Given the description of an element on the screen output the (x, y) to click on. 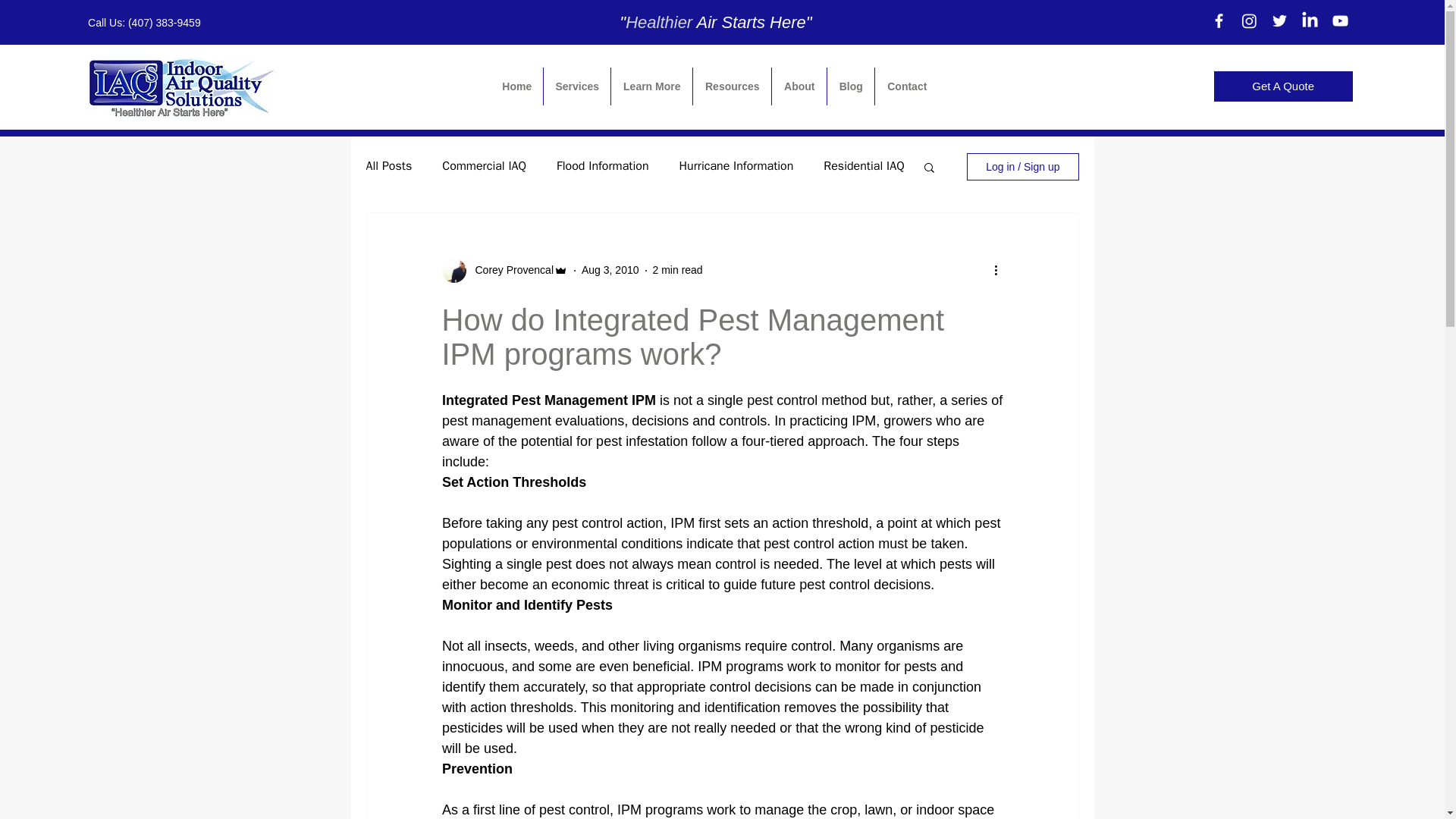
Aug 3, 2010 (609, 269)
Get A Quote (1283, 86)
Flood Information (601, 166)
Contact (907, 86)
Residential IAQ (864, 166)
About (799, 86)
Blog (851, 86)
All Posts (388, 166)
Home (516, 86)
Hurricane Information (736, 166)
